Given the description of an element on the screen output the (x, y) to click on. 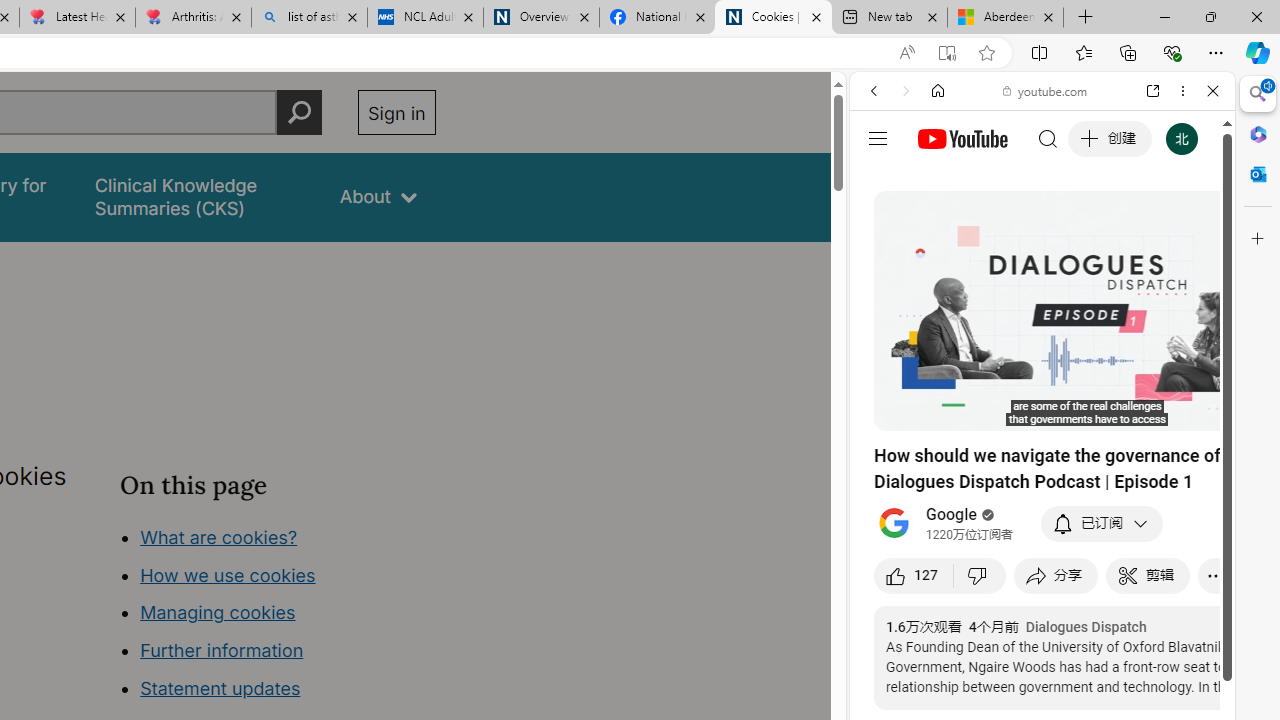
Trailer #2 [HD] (1042, 594)
Cookies | About | NICE (772, 17)
